Given the description of an element on the screen output the (x, y) to click on. 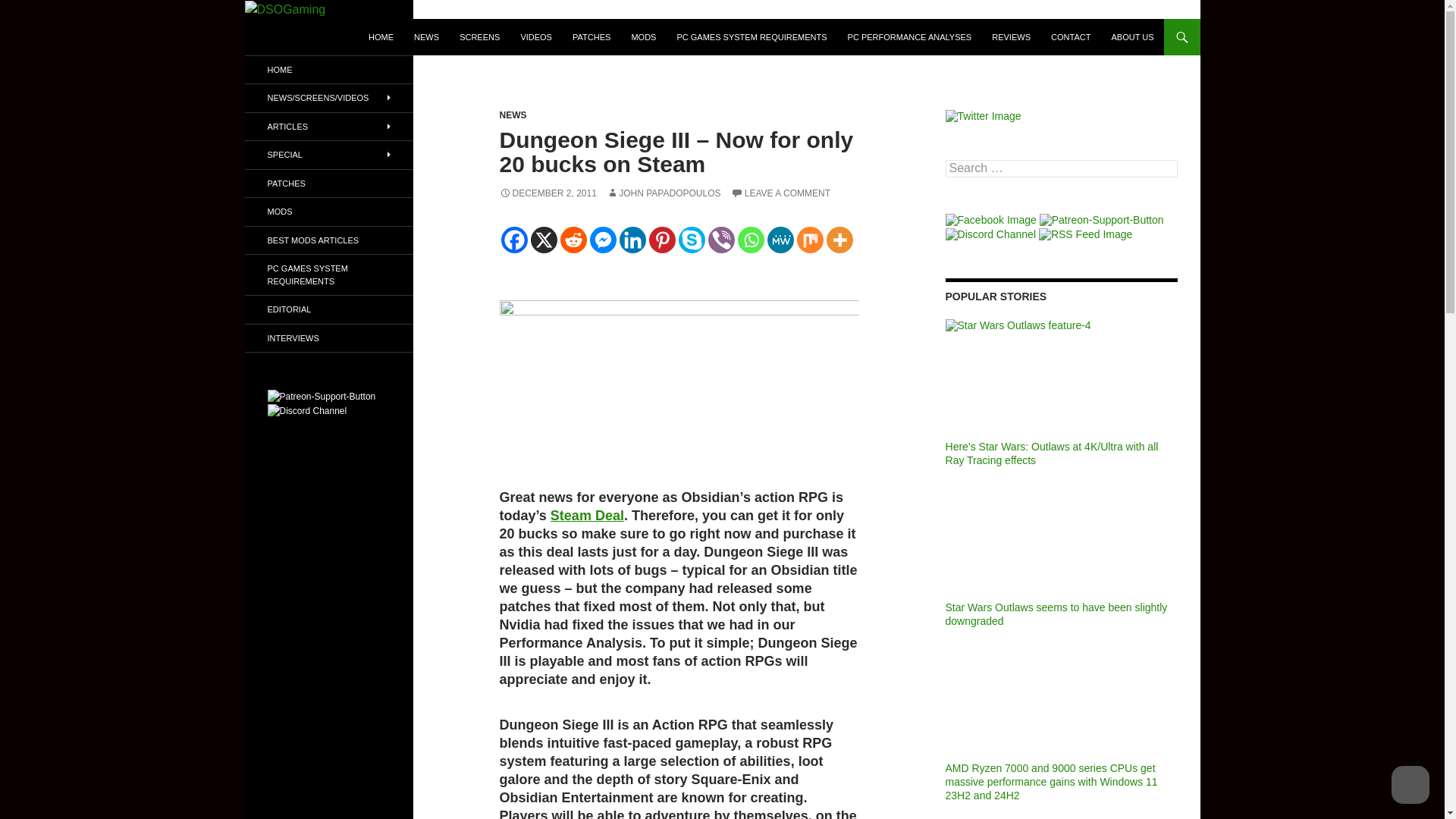
MeWe (780, 239)
Linkedin (631, 239)
NEWS (426, 36)
Viber (721, 239)
ABOUT US (1131, 36)
dungeon-siege-iii530 (679, 380)
LEAVE A COMMENT (779, 193)
NEWS (512, 114)
SCREENS (478, 36)
Reddit (572, 239)
